Given the description of an element on the screen output the (x, y) to click on. 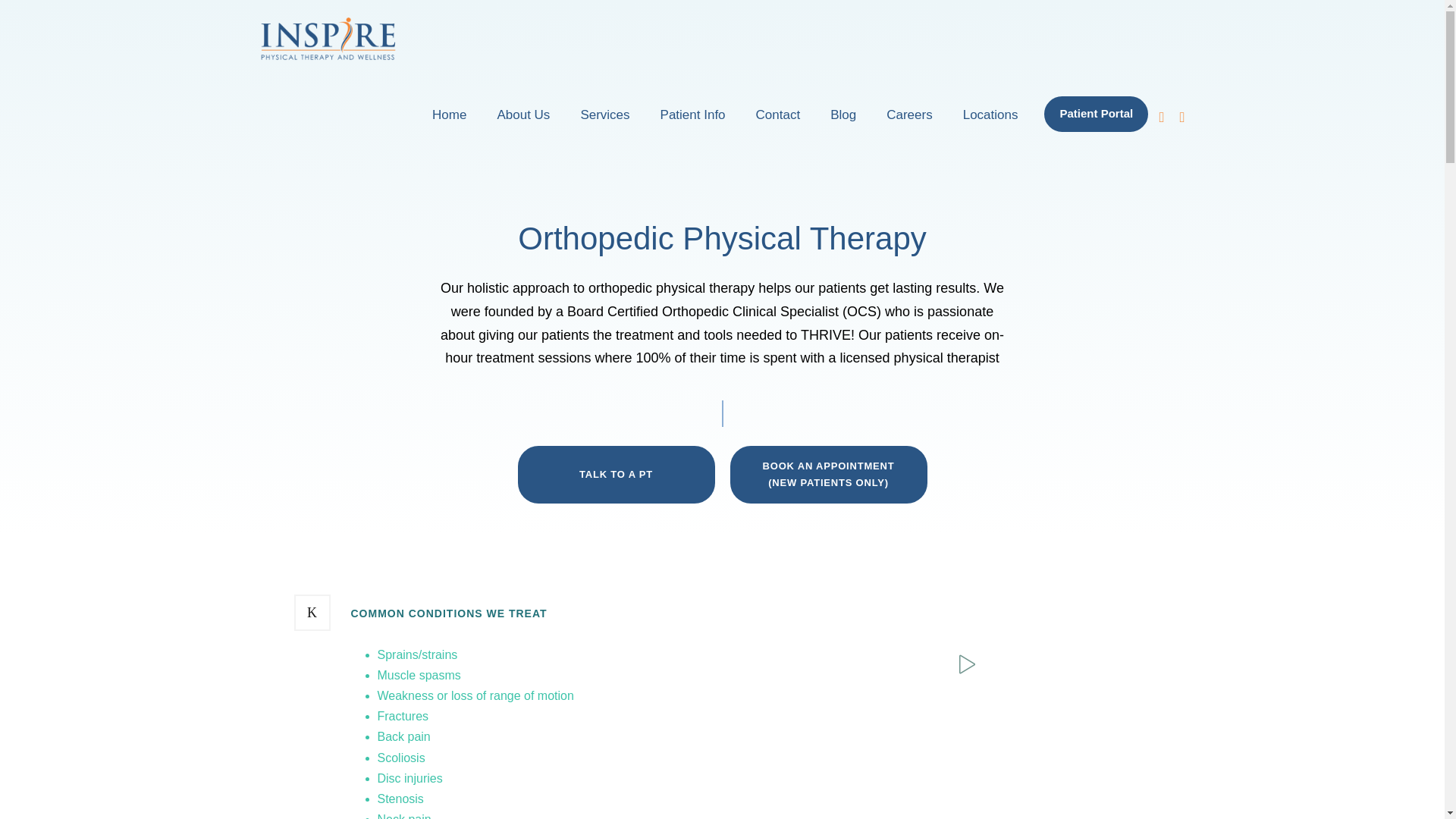
About Us (523, 122)
play icon (964, 663)
Home (448, 122)
Services (603, 122)
